Given the description of an element on the screen output the (x, y) to click on. 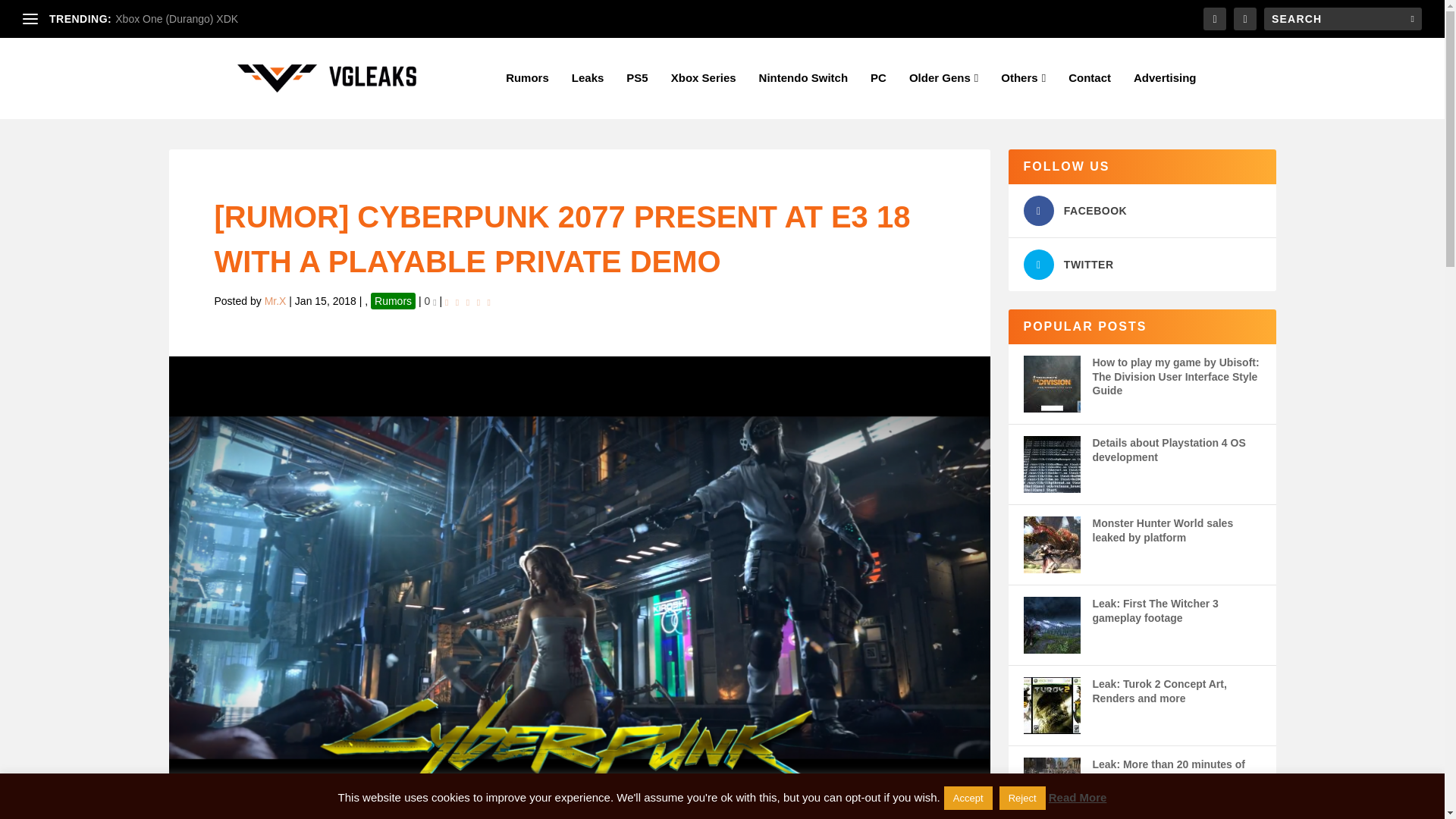
Advertising (1165, 95)
Nintendo Switch (803, 95)
PC (878, 95)
Contact (1089, 95)
Posts by Mr.X (275, 300)
Xbox Series (703, 95)
Search for: (1342, 18)
Rating: 0.00 (470, 301)
Older Gens (943, 95)
Others (1023, 95)
Rumors (526, 95)
Leaks (588, 95)
PS5 (636, 95)
comment count (433, 302)
